Given the description of an element on the screen output the (x, y) to click on. 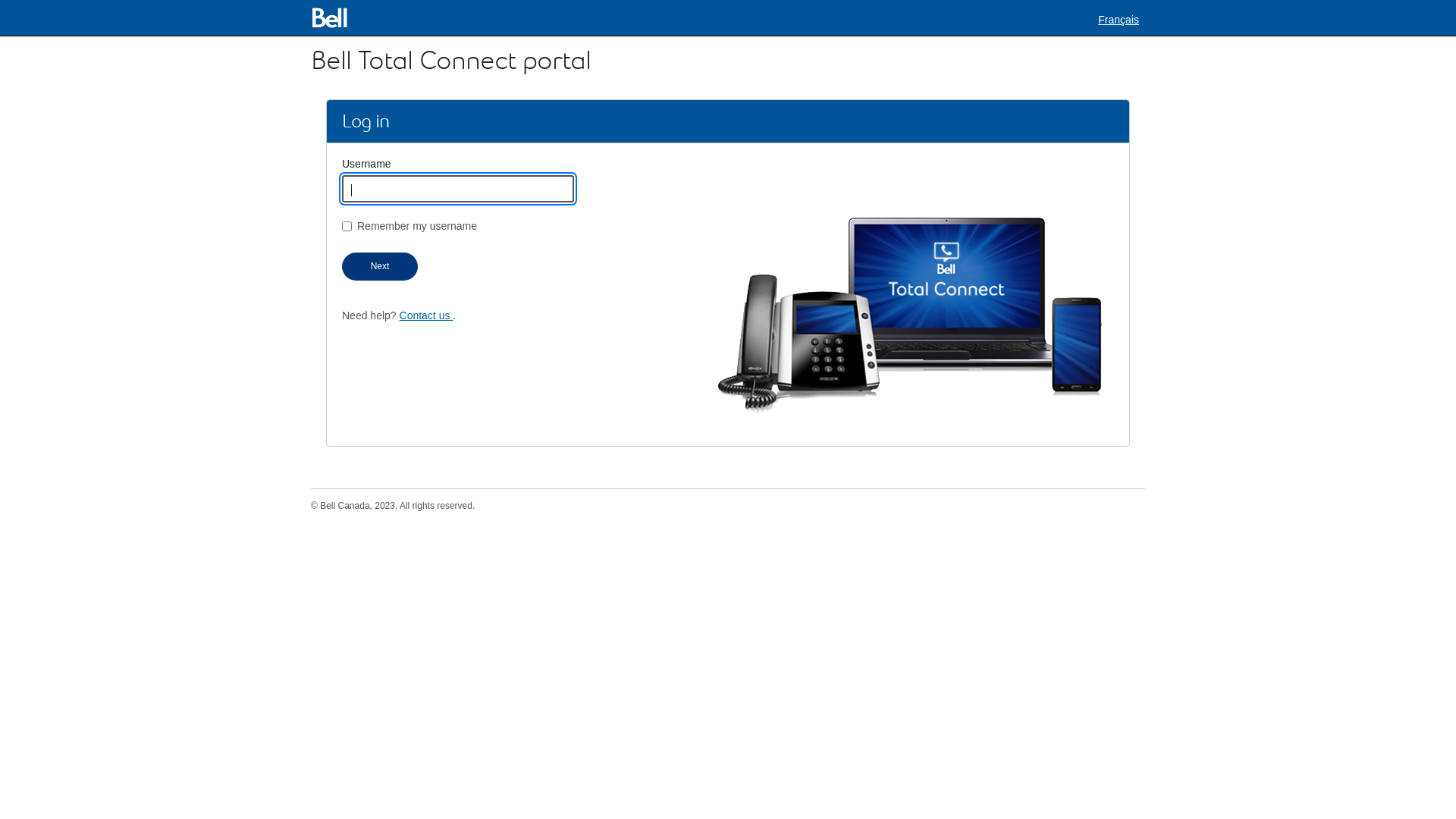
Bell Home Element type: hover (331, 18)
Next Element type: text (379, 266)
Contact us Element type: text (426, 315)
